Given the description of an element on the screen output the (x, y) to click on. 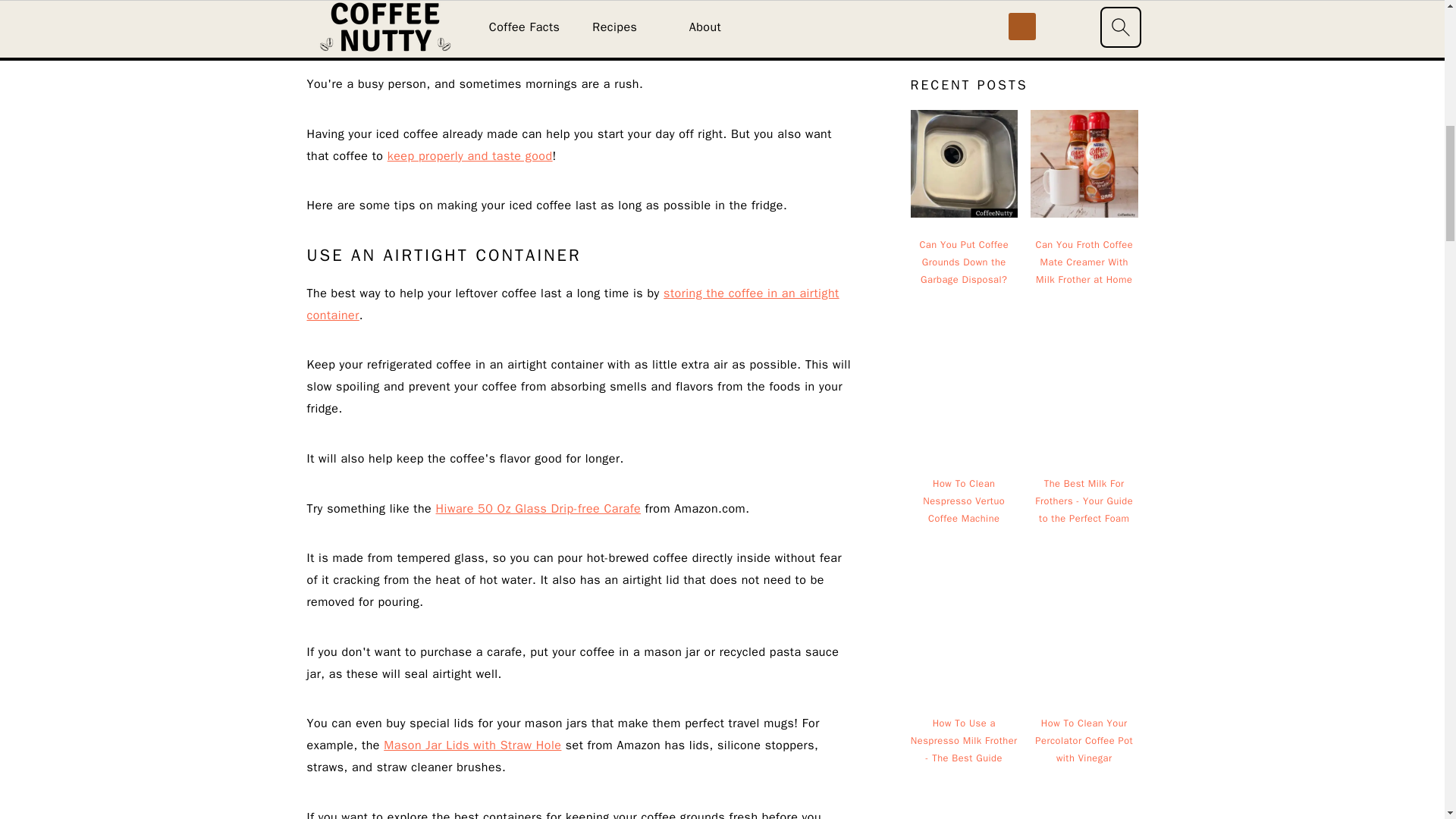
Hiware 50 Oz Glass Drip-free Carafe (538, 508)
storing the coffee in an airtight container (571, 303)
Mason Jar Lids with Straw Hole (472, 744)
keep properly and taste good (470, 155)
